Given the description of an element on the screen output the (x, y) to click on. 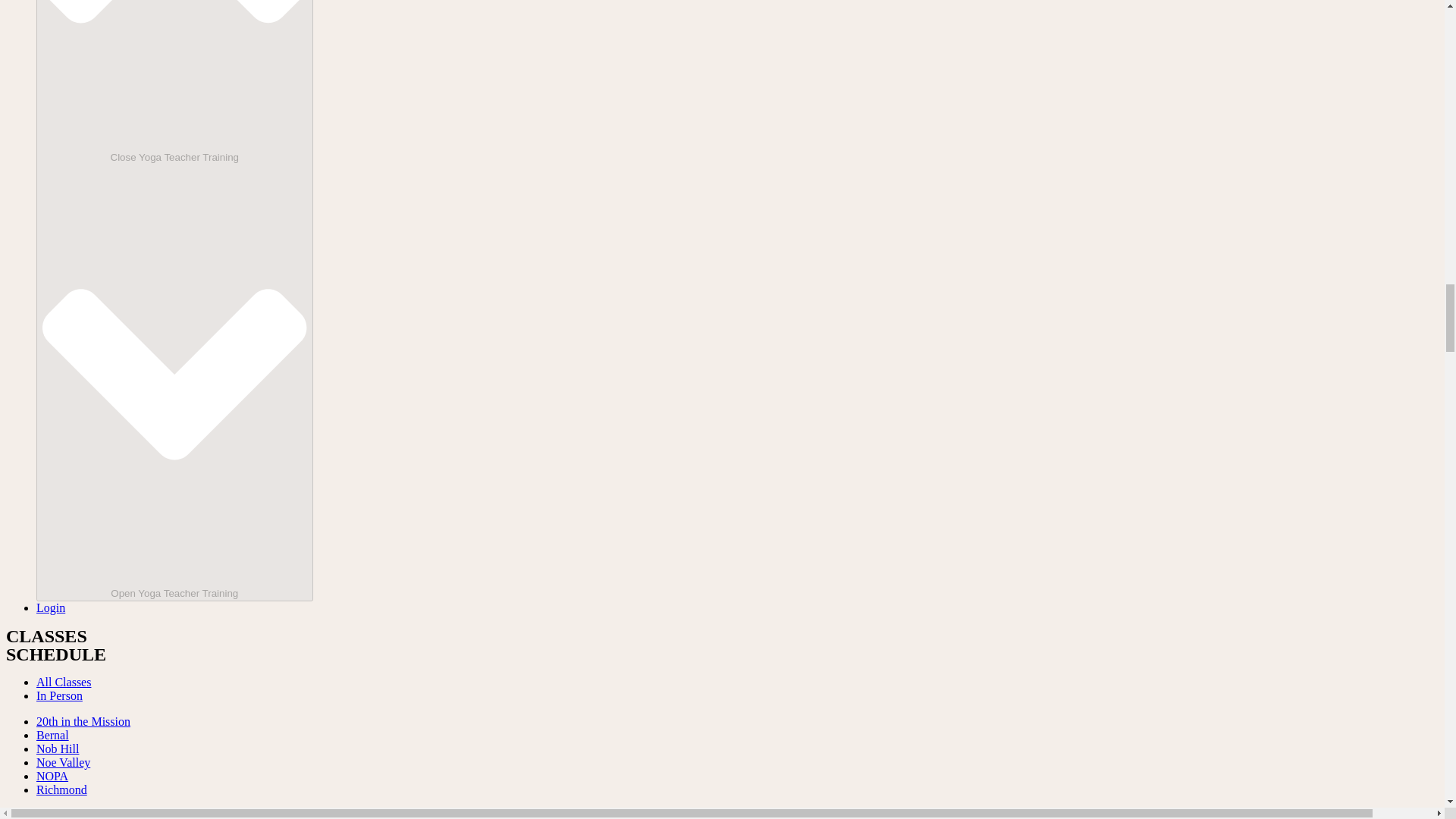
Virtual (52, 814)
Richmond (61, 789)
All Classes (63, 681)
NOPA (52, 775)
In Person (59, 695)
Login (50, 607)
Nob Hill (57, 748)
Noe Valley (63, 762)
20th in the Mission (83, 721)
Bernal (52, 735)
